Given the description of an element on the screen output the (x, y) to click on. 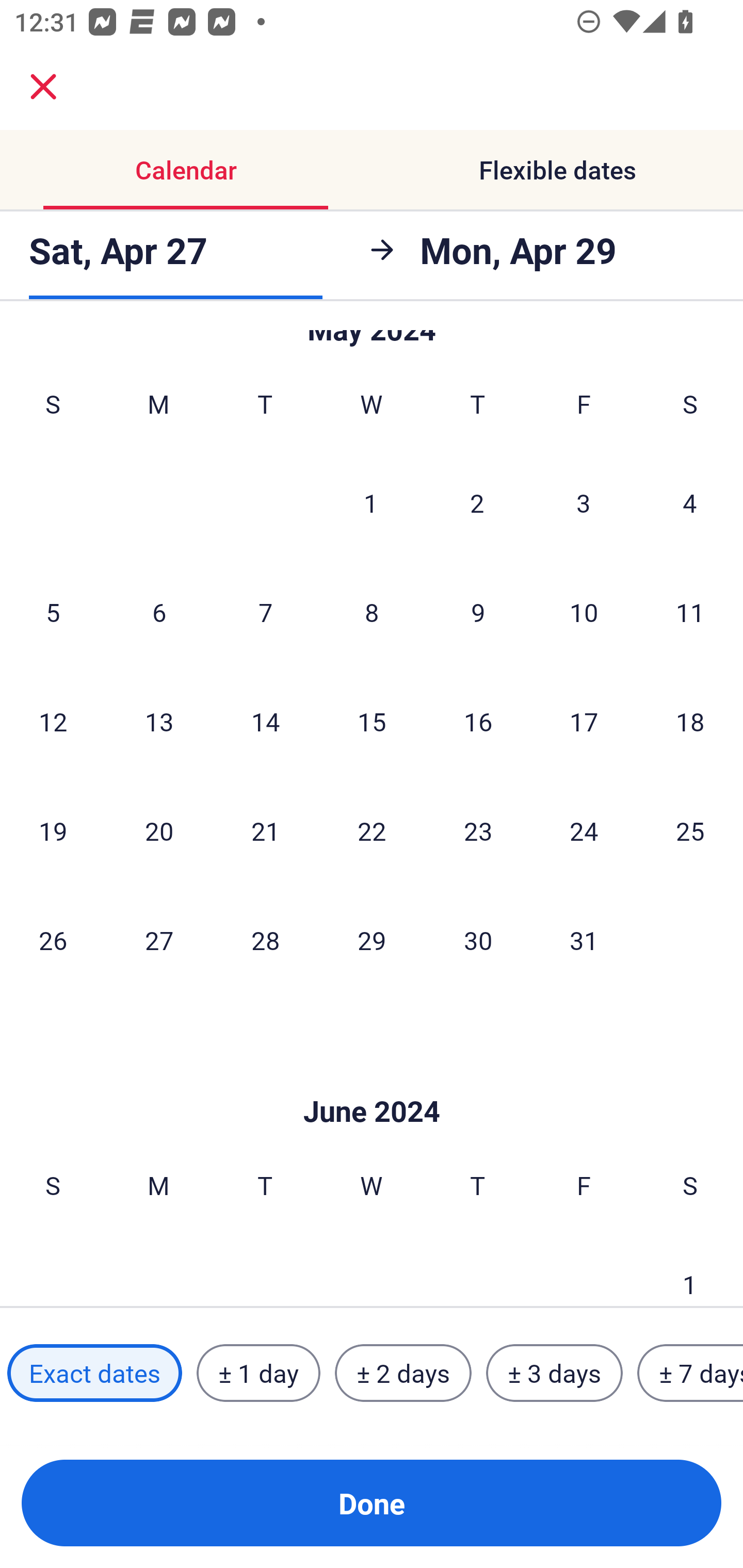
close. (43, 86)
Flexible dates (557, 170)
1 Wednesday, May 1, 2024 (371, 502)
2 Thursday, May 2, 2024 (477, 502)
3 Friday, May 3, 2024 (583, 502)
4 Saturday, May 4, 2024 (689, 502)
5 Sunday, May 5, 2024 (53, 611)
6 Monday, May 6, 2024 (159, 611)
7 Tuesday, May 7, 2024 (265, 611)
8 Wednesday, May 8, 2024 (371, 611)
9 Thursday, May 9, 2024 (477, 611)
10 Friday, May 10, 2024 (584, 611)
11 Saturday, May 11, 2024 (690, 611)
12 Sunday, May 12, 2024 (53, 720)
13 Monday, May 13, 2024 (159, 720)
14 Tuesday, May 14, 2024 (265, 720)
15 Wednesday, May 15, 2024 (371, 720)
16 Thursday, May 16, 2024 (477, 720)
17 Friday, May 17, 2024 (584, 720)
18 Saturday, May 18, 2024 (690, 720)
19 Sunday, May 19, 2024 (53, 829)
20 Monday, May 20, 2024 (159, 829)
21 Tuesday, May 21, 2024 (265, 829)
22 Wednesday, May 22, 2024 (371, 829)
23 Thursday, May 23, 2024 (477, 829)
24 Friday, May 24, 2024 (584, 829)
25 Saturday, May 25, 2024 (690, 829)
26 Sunday, May 26, 2024 (53, 939)
27 Monday, May 27, 2024 (159, 939)
28 Tuesday, May 28, 2024 (265, 939)
29 Wednesday, May 29, 2024 (371, 939)
30 Thursday, May 30, 2024 (477, 939)
31 Friday, May 31, 2024 (584, 939)
Skip to Done (371, 1081)
1 Saturday, June 1, 2024 (689, 1268)
Exact dates (94, 1372)
± 1 day (258, 1372)
± 2 days (403, 1372)
± 3 days (553, 1372)
± 7 days (690, 1372)
Done (371, 1502)
